Given the description of an element on the screen output the (x, y) to click on. 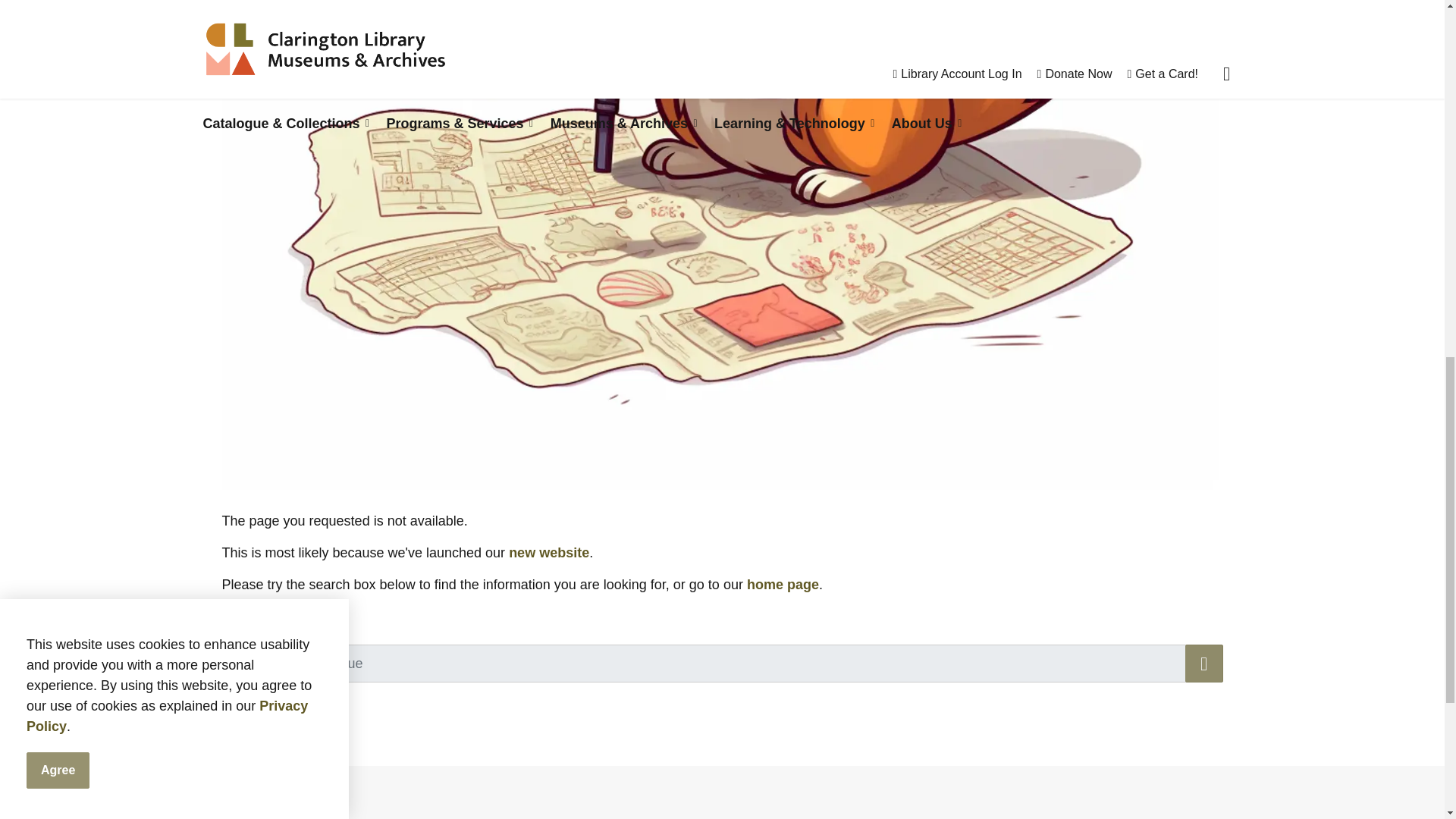
Home (782, 584)
Home (548, 552)
